Given the description of an element on the screen output the (x, y) to click on. 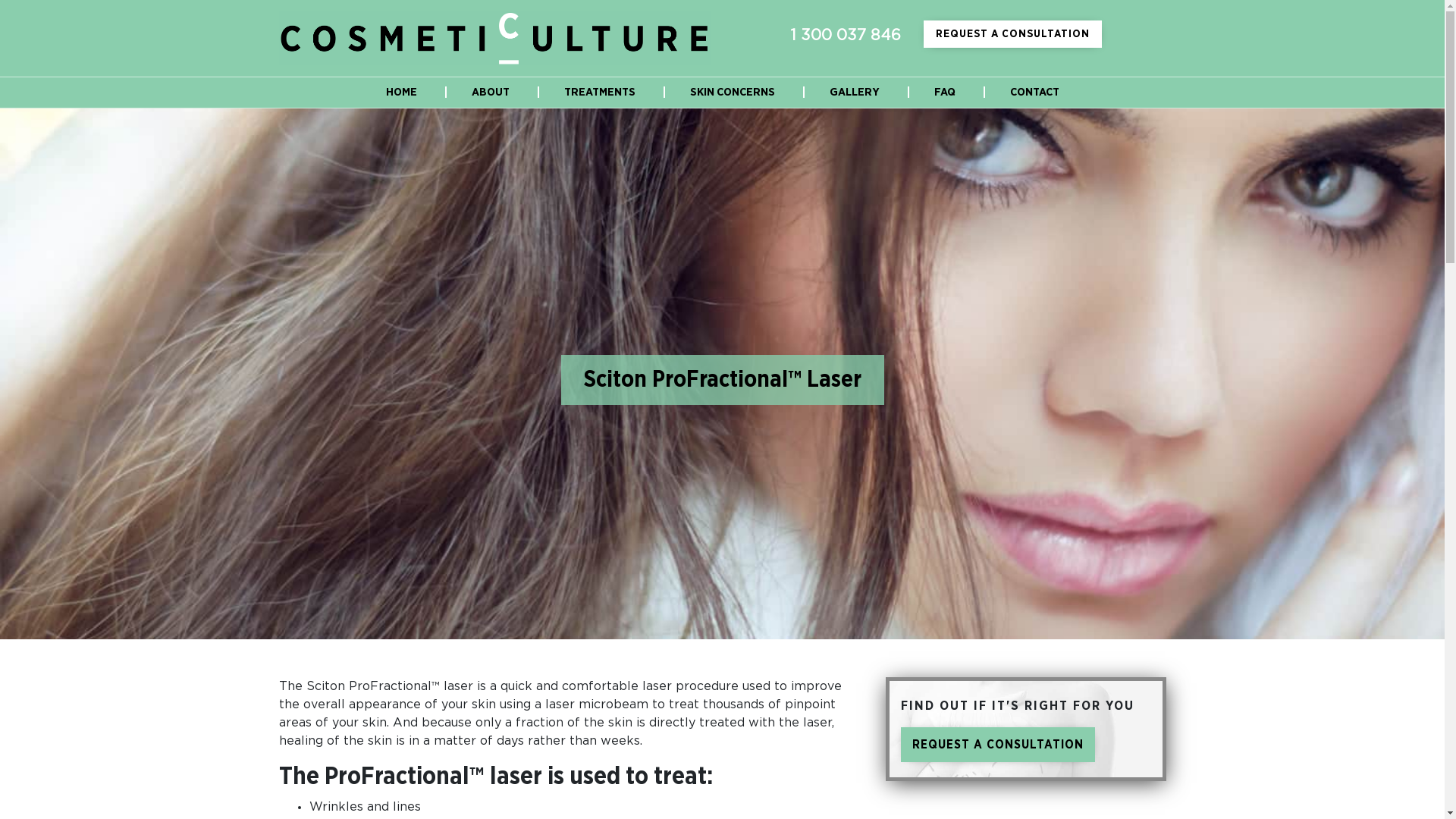
FAQ Element type: text (944, 92)
REQUEST A CONSULTATION Element type: text (997, 744)
CONTACT Element type: text (1034, 92)
TREATMENTS Element type: text (599, 92)
1 300 037 846 Element type: text (845, 36)
GALLERY Element type: text (854, 92)
REQUEST A CONSULTATION Element type: text (1012, 33)
SKIN CONCERNS Element type: text (732, 92)
ABOUT Element type: text (490, 92)
HOME Element type: text (400, 92)
